Given the description of an element on the screen output the (x, y) to click on. 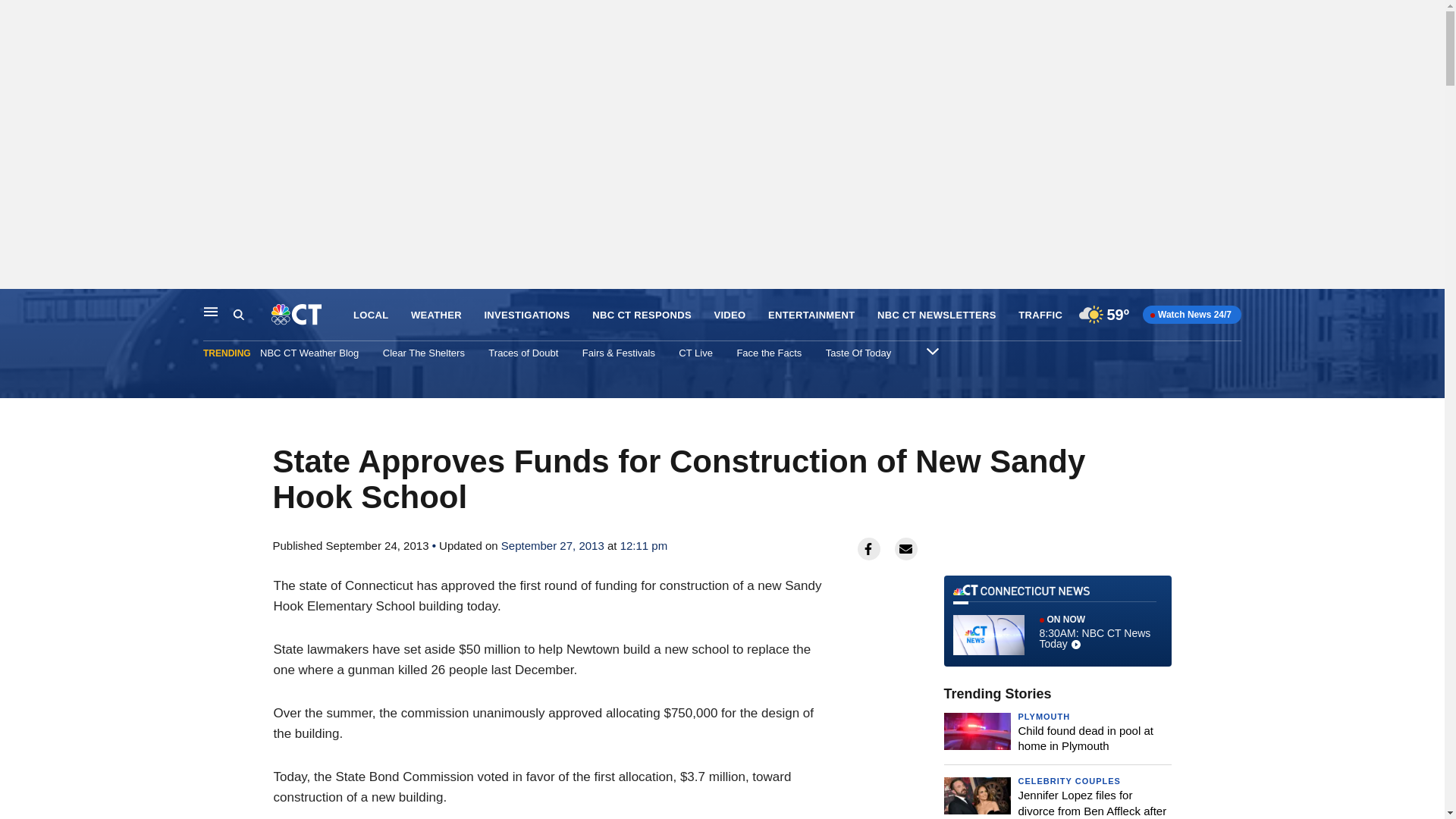
ENTERTAINMENT (812, 315)
LOCAL (370, 315)
VIDEO (1056, 620)
Search (729, 315)
INVESTIGATIONS (252, 314)
TRAFFIC (526, 315)
Skip to content (1039, 315)
Face the Facts (16, 304)
CT Live (769, 352)
